Given the description of an element on the screen output the (x, y) to click on. 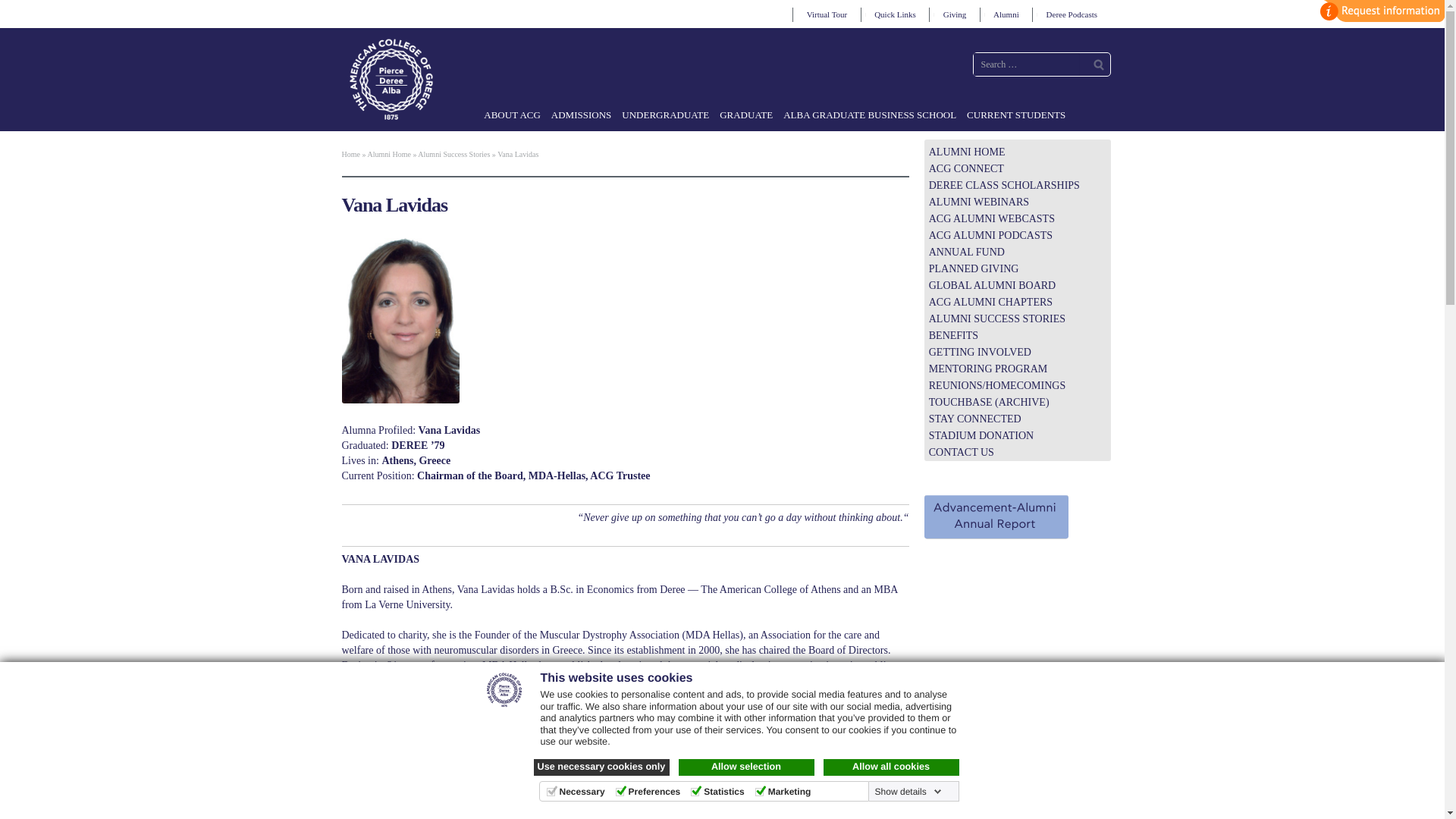
Search (1098, 64)
Show details (908, 791)
Use necessary cookies only (601, 767)
Search (1098, 64)
Allow all cookies (891, 767)
Allow selection (745, 767)
